Given the description of an element on the screen output the (x, y) to click on. 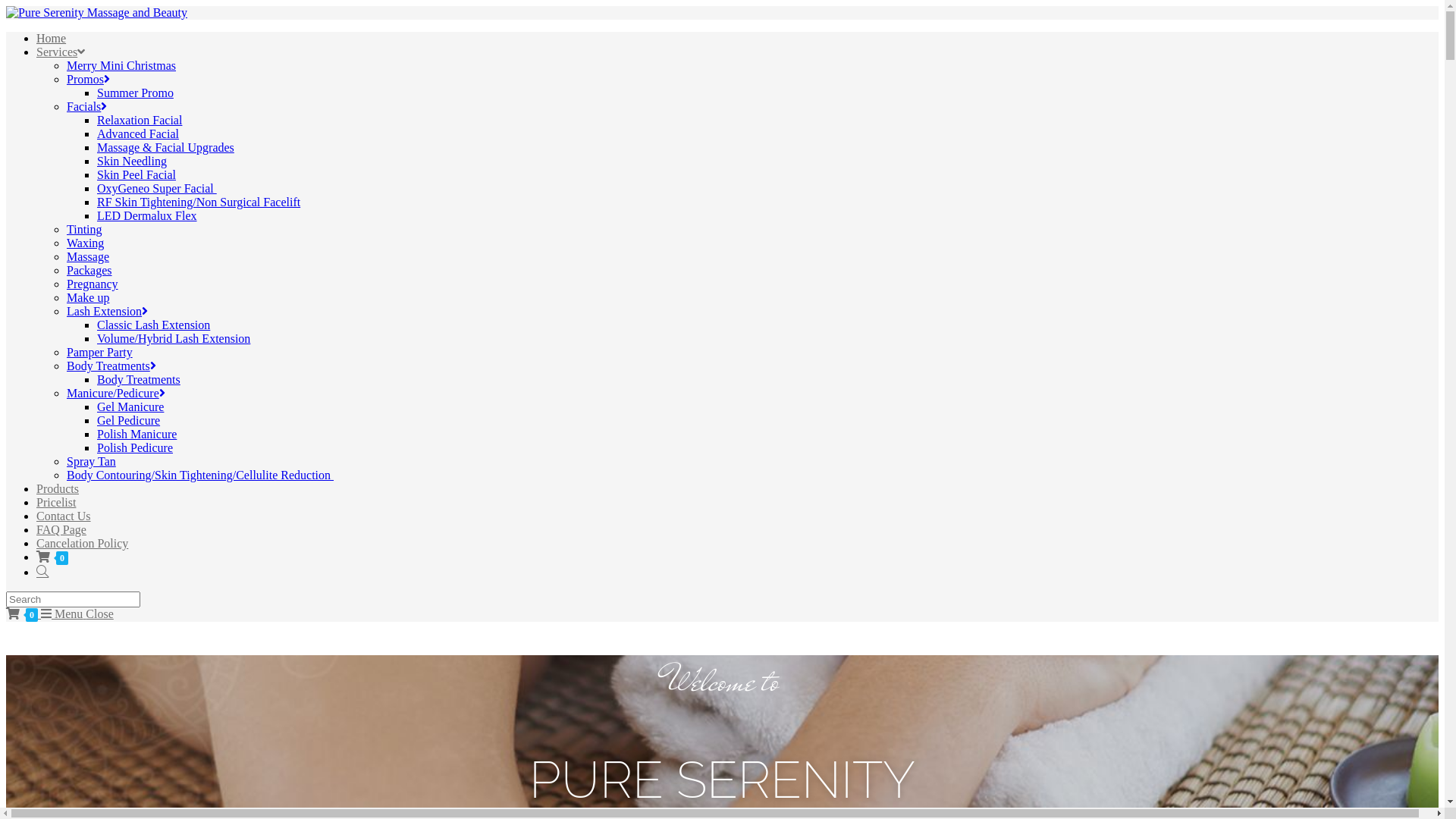
Waxing Element type: text (84, 242)
Polish Pedicure Element type: text (134, 447)
RF Skin Tightening/Non Surgical Facelift Element type: text (198, 201)
Skin Needling Element type: text (131, 160)
Toggle website search Element type: text (42, 571)
Pregnancy Element type: text (92, 283)
OxyGeneo Super Facial  Element type: text (156, 188)
Cancelation Policy Element type: text (82, 542)
Facials Element type: text (86, 106)
Spray Tan Element type: text (91, 461)
Body Contouring/Skin Tightening/Cellulite Reduction  Element type: text (199, 474)
0 Element type: text (52, 556)
Pricelist Element type: text (55, 501)
Relaxation Facial Element type: text (139, 119)
Gel Pedicure Element type: text (128, 420)
Tinting Element type: text (84, 228)
Make up Element type: text (87, 297)
Polish Manicure Element type: text (136, 433)
Packages Element type: text (89, 269)
Services Element type: text (60, 51)
Advanced Facial Element type: text (137, 133)
0 Element type: text (23, 613)
Summer Promo Element type: text (135, 92)
Gel Manicure Element type: text (130, 406)
Body Treatments Element type: text (138, 379)
Menu Close Element type: text (76, 613)
Home Element type: text (50, 37)
Skip to content Element type: text (5, 5)
Products Element type: text (57, 488)
Volume/Hybrid Lash Extension Element type: text (173, 338)
Classic Lash Extension Element type: text (153, 324)
Massage & Facial Upgrades Element type: text (165, 147)
Manicure/Pedicure Element type: text (115, 392)
Massage Element type: text (87, 256)
Contact Us Element type: text (63, 515)
Pamper Party Element type: text (99, 351)
Lash Extension Element type: text (106, 310)
FAQ Page Element type: text (61, 529)
LED Dermalux Flex Element type: text (147, 215)
Promos Element type: text (87, 78)
Merry Mini Christmas Element type: text (120, 65)
Body Treatments Element type: text (111, 365)
Skin Peel Facial Element type: text (136, 174)
